Given the description of an element on the screen output the (x, y) to click on. 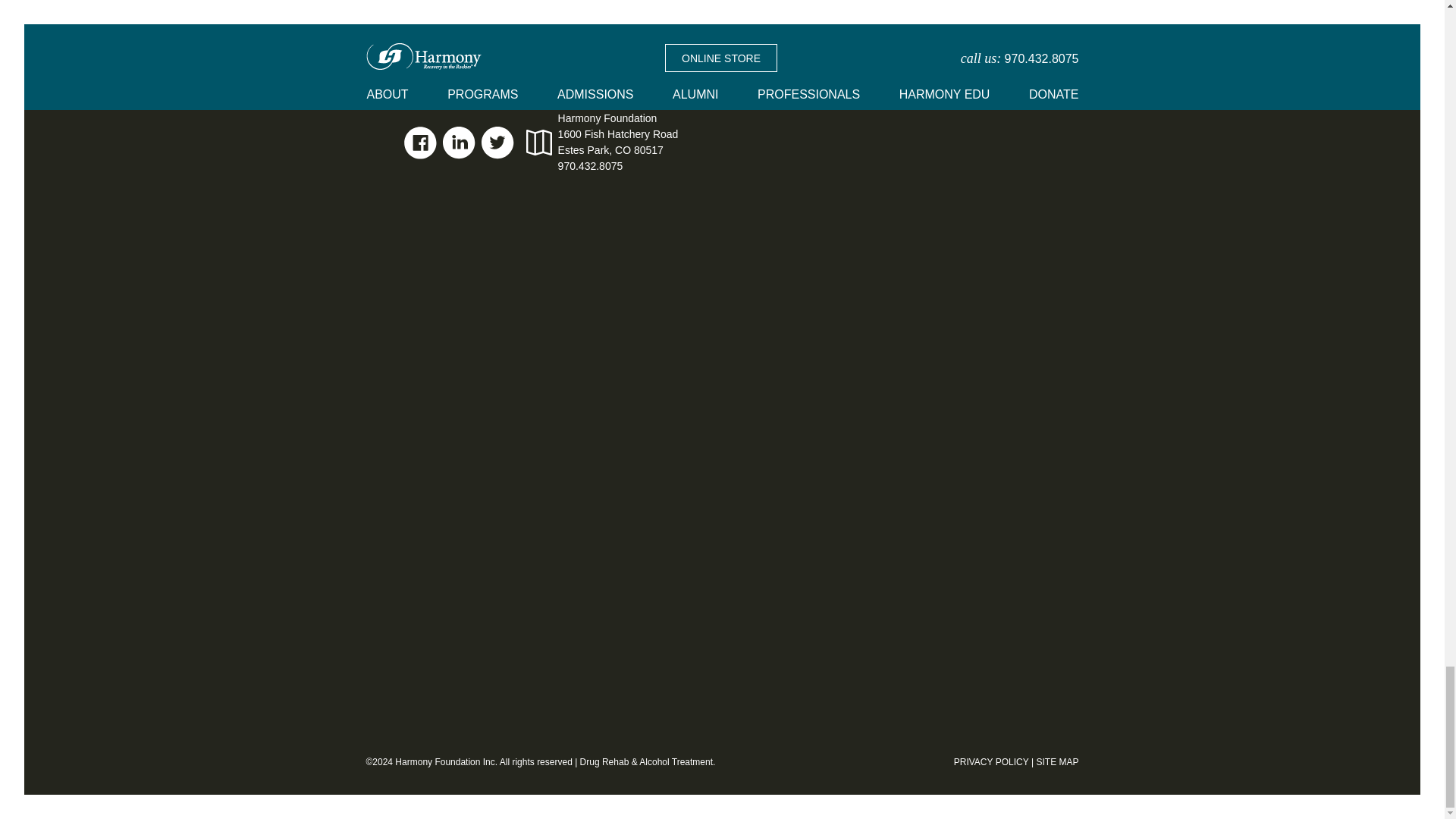
map (538, 142)
Twitter (497, 142)
Facebook (420, 142)
Linkedin (459, 142)
